Given the description of an element on the screen output the (x, y) to click on. 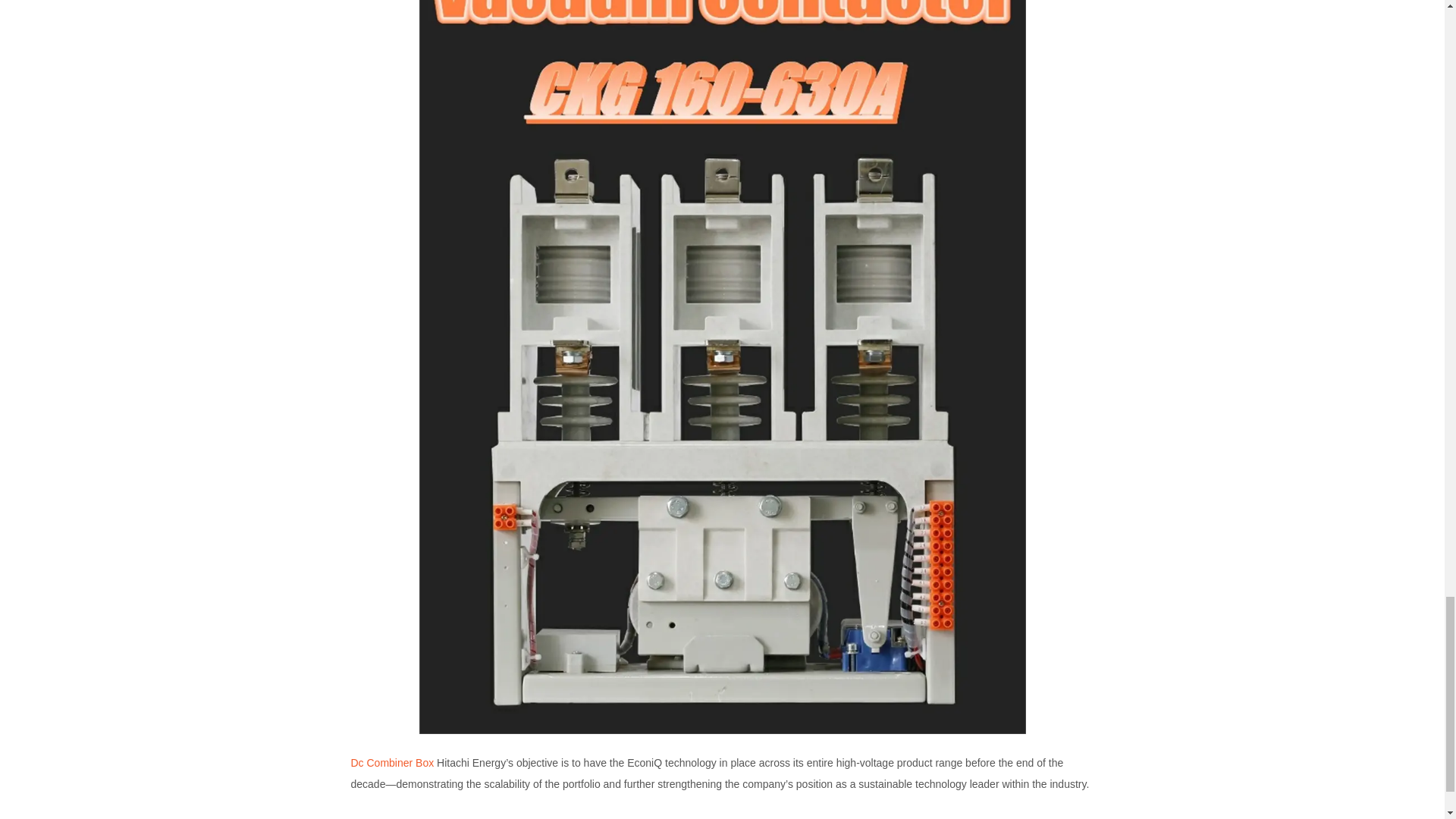
Dc Combiner Box (391, 762)
